Given the description of an element on the screen output the (x, y) to click on. 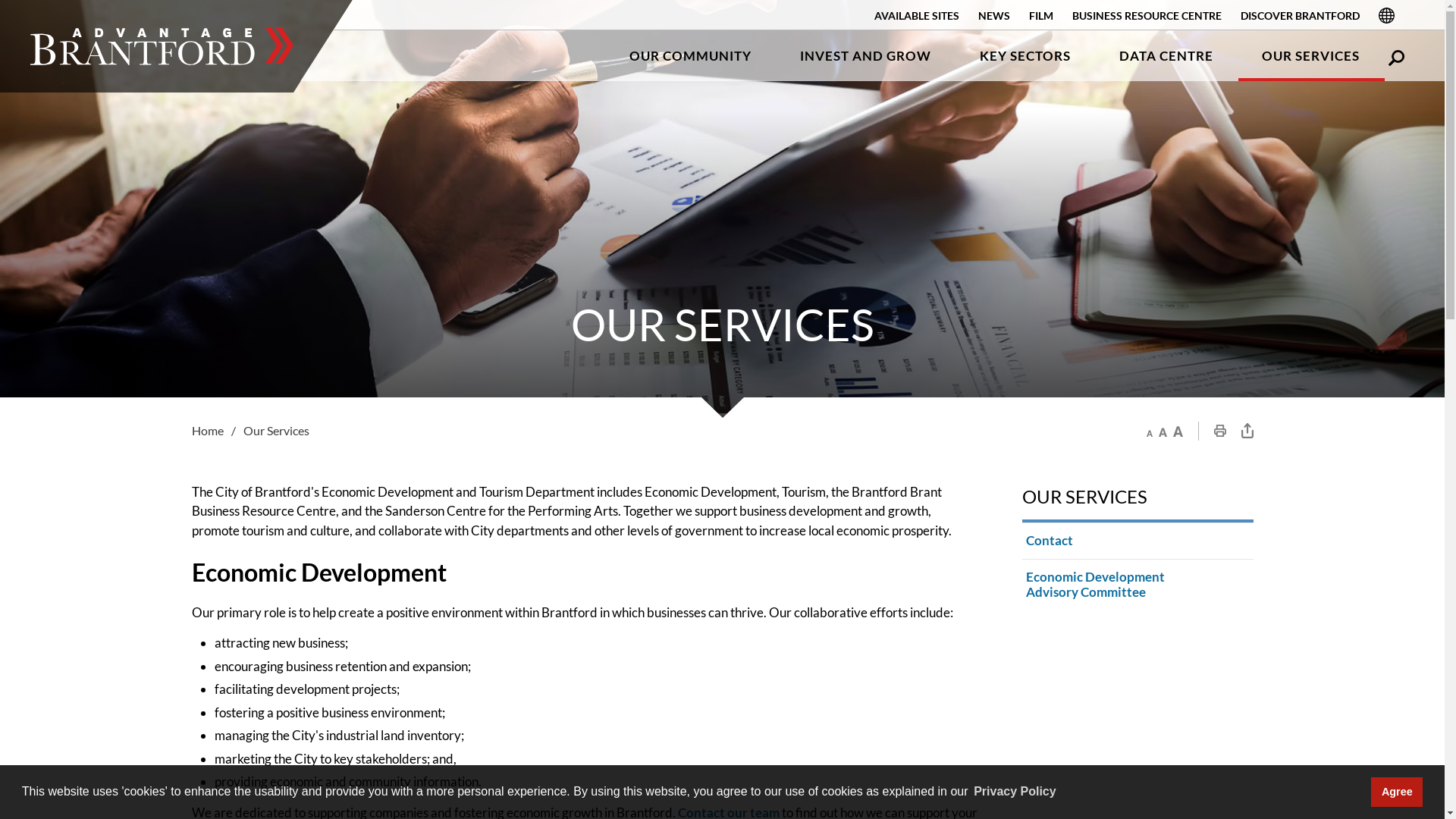
OUR COMMUNITY Element type: text (690, 55)
Home Element type: text (216, 430)
Contact Element type: text (1137, 540)
DISCOVER BRANTFORD Element type: text (1299, 15)
INVEST AND GROW Element type: text (865, 55)
Default text size Element type: hover (1162, 430)
AVAILABLE SITES Element type: text (916, 15)
FILM Element type: text (1041, 15)
BUSINESS RESOURCE CENTRE Element type: text (1146, 15)
Share this page Element type: hover (1246, 430)
Click to return to the homepage Element type: hover (161, 46)
OUR SERVICES Element type: text (1137, 496)
Economic Development Advisory Committee Element type: text (1137, 584)
View our Homepage Element type: hover (161, 46)
DATA CENTRE Element type: text (1166, 55)
Privacy Policy Element type: text (1014, 791)
NEWS Element type: text (994, 15)
Print This Page Element type: hover (1219, 430)
KEY SECTORS Element type: text (1025, 55)
Agree Element type: text (1396, 791)
Increase text size Element type: hover (1177, 430)
OUR SERVICES Element type: text (1310, 55)
Decrease text size Element type: hover (1149, 430)
Skip to Content Element type: text (0, 0)
